Given the description of an element on the screen output the (x, y) to click on. 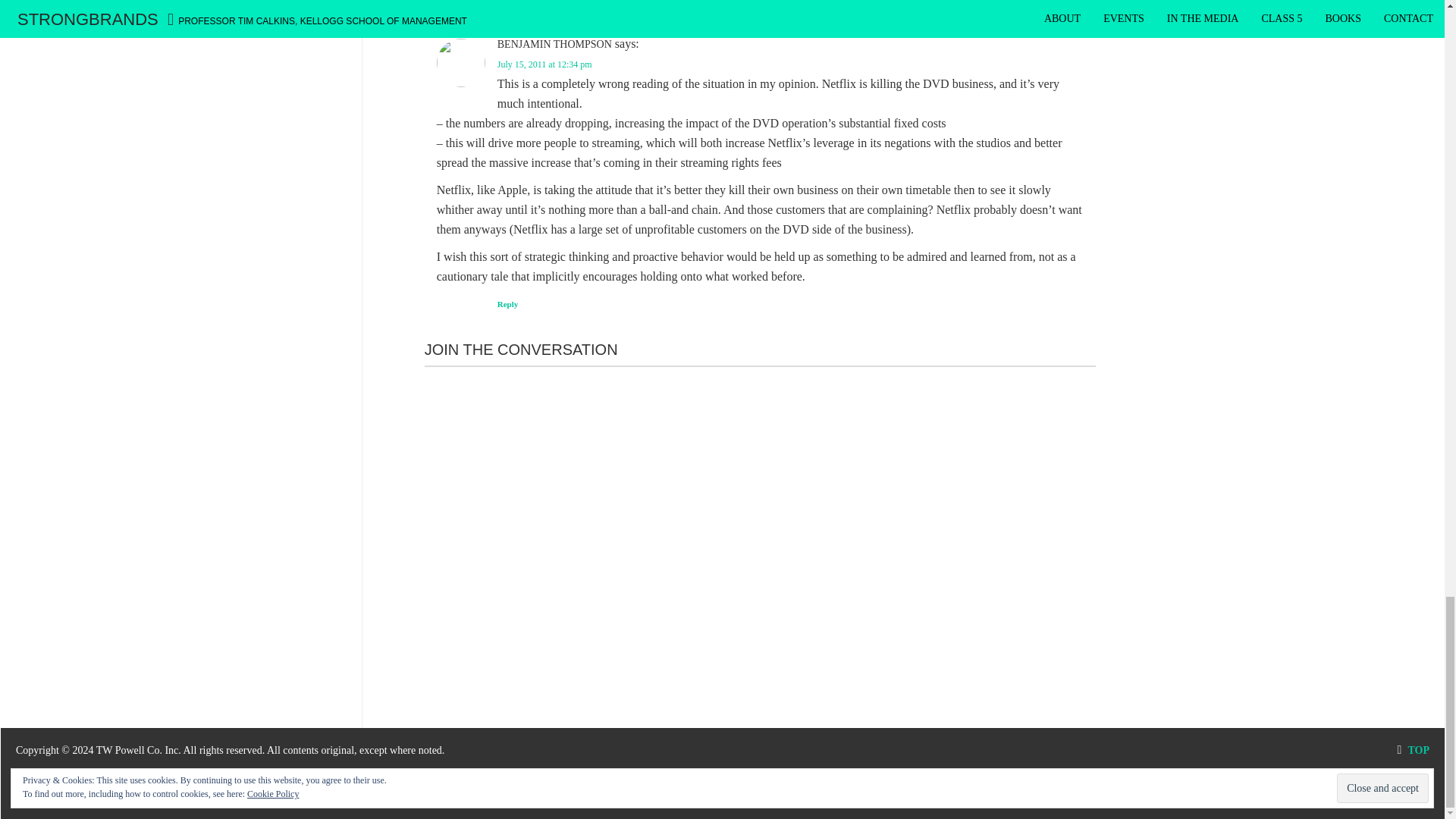
Reply (507, 303)
July 15, 2011 at 12:34 pm (544, 63)
Reply (507, 2)
